Given the description of an element on the screen output the (x, y) to click on. 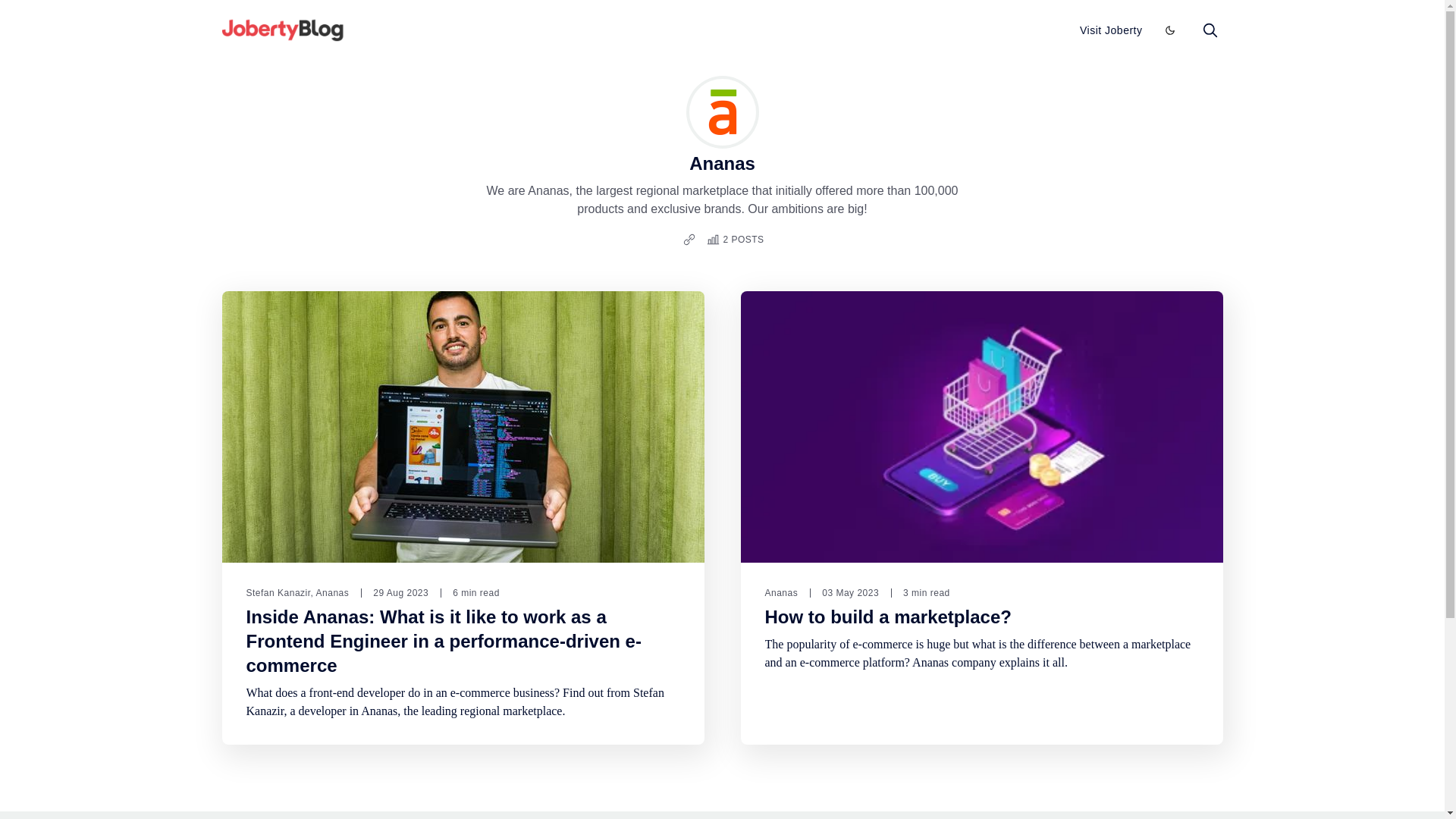
Enable dark mode (1169, 30)
Visit Joberty (1111, 30)
Enable dark mode (1169, 30)
Stefan Kanazir (278, 593)
How to build a marketplace? (887, 617)
Ananas (332, 593)
Ananas (780, 593)
